Given the description of an element on the screen output the (x, y) to click on. 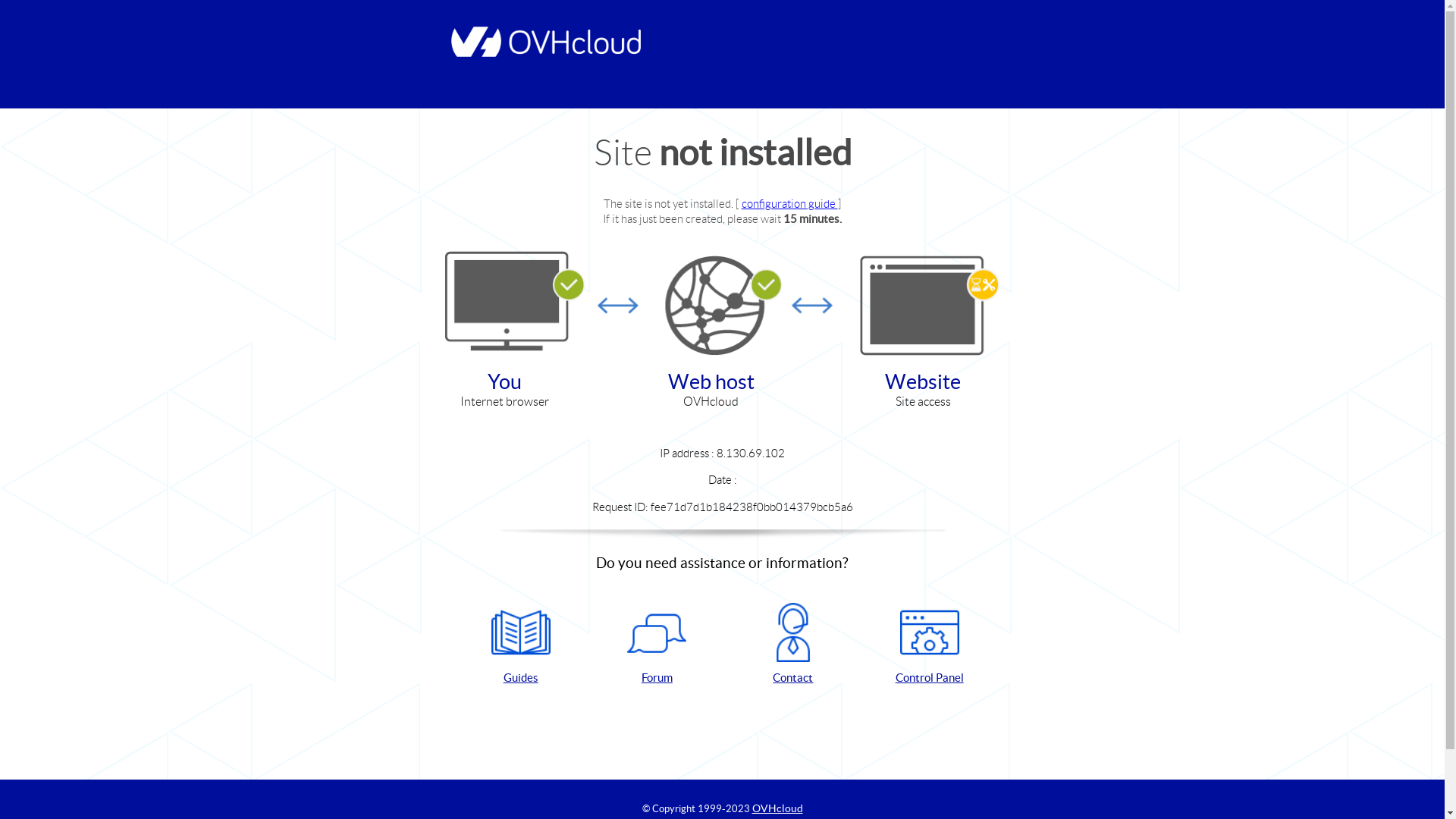
Guides Element type: text (520, 644)
Forum Element type: text (656, 644)
configuration guide Element type: text (789, 203)
OVHcloud Element type: text (777, 808)
Control Panel Element type: text (929, 644)
Contact Element type: text (792, 644)
